Given the description of an element on the screen output the (x, y) to click on. 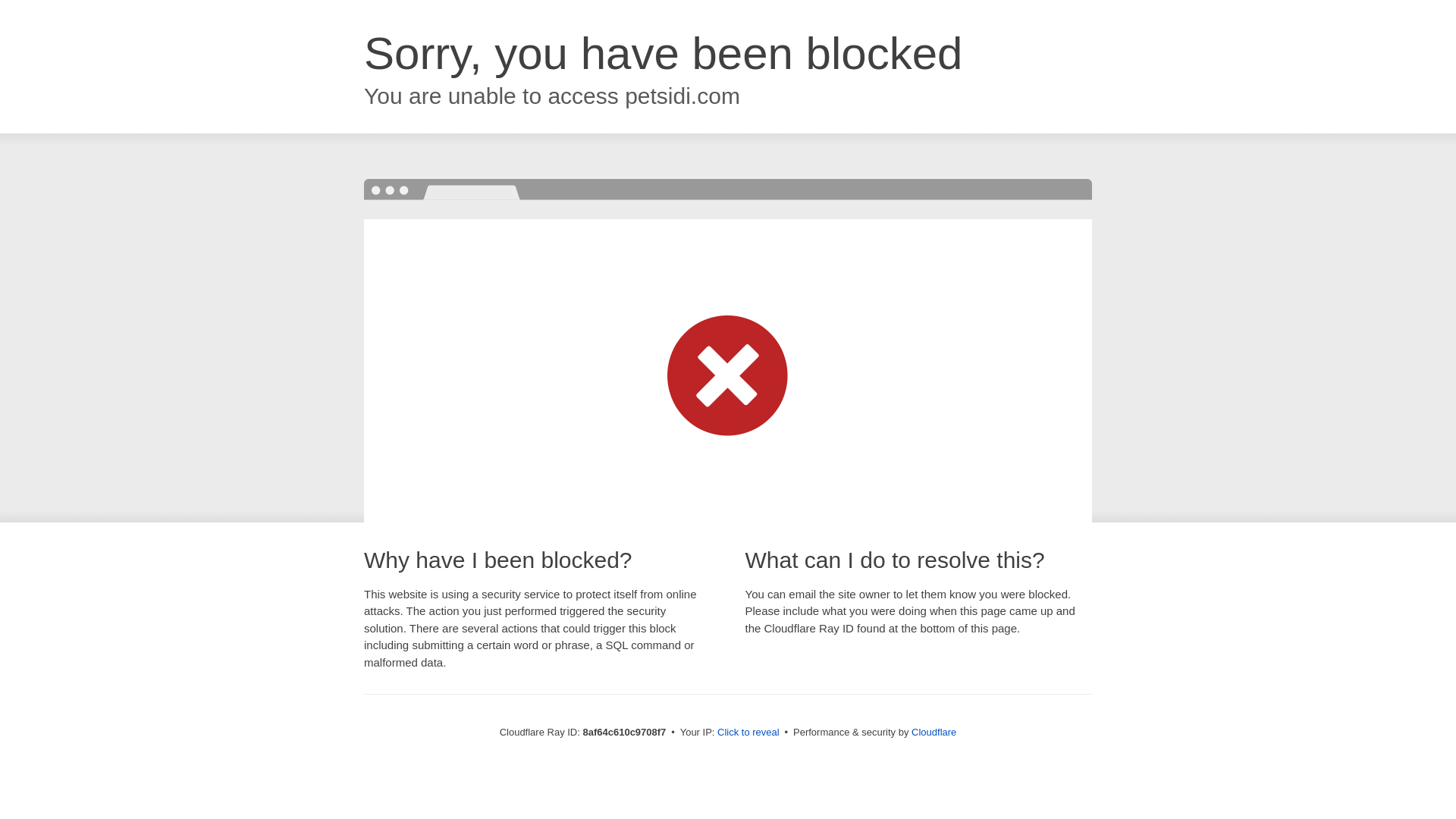
Click to reveal (747, 732)
Cloudflare (933, 731)
